Given the description of an element on the screen output the (x, y) to click on. 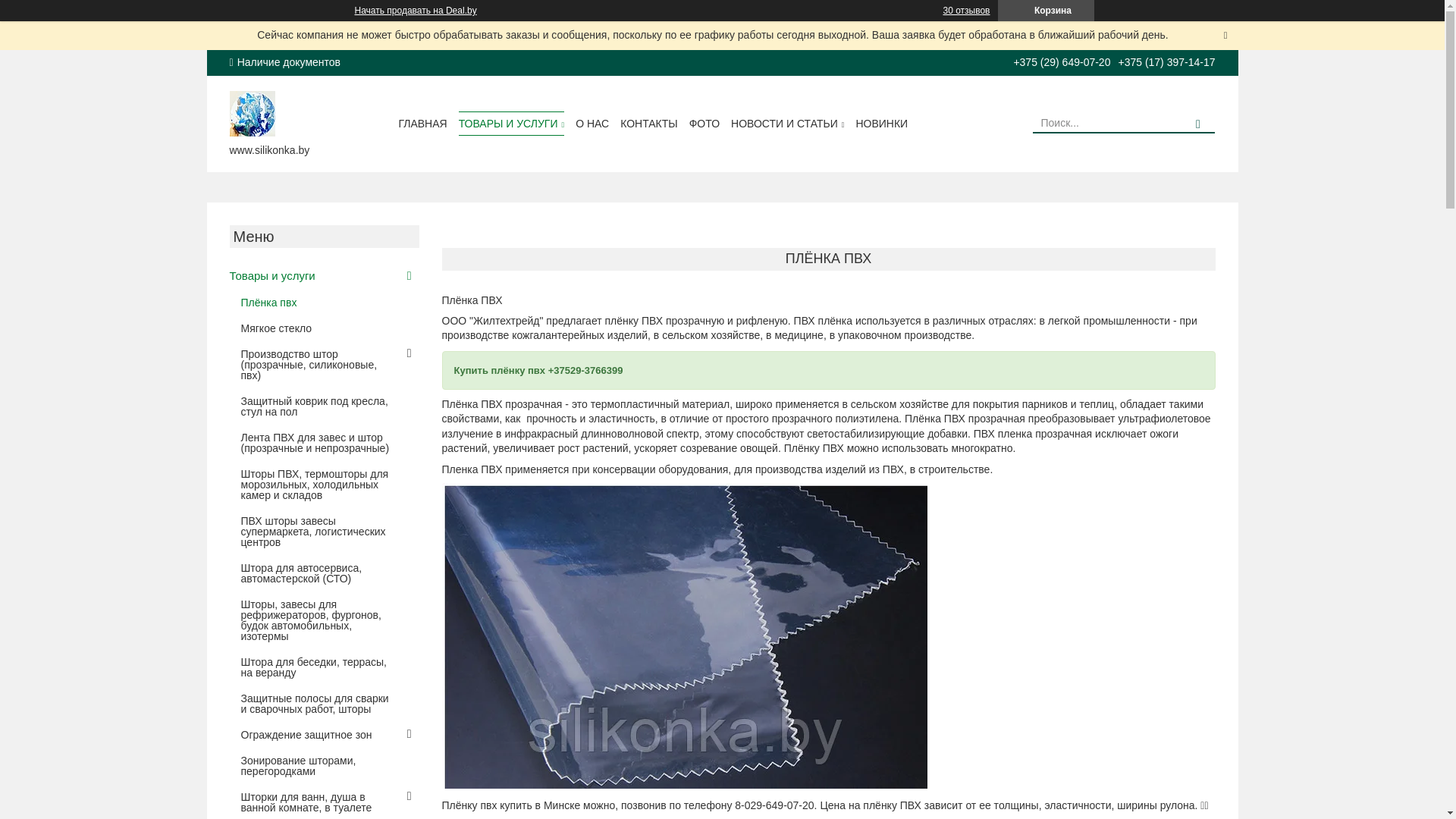
silikonka.by Element type: hover (251, 112)
